Given the description of an element on the screen output the (x, y) to click on. 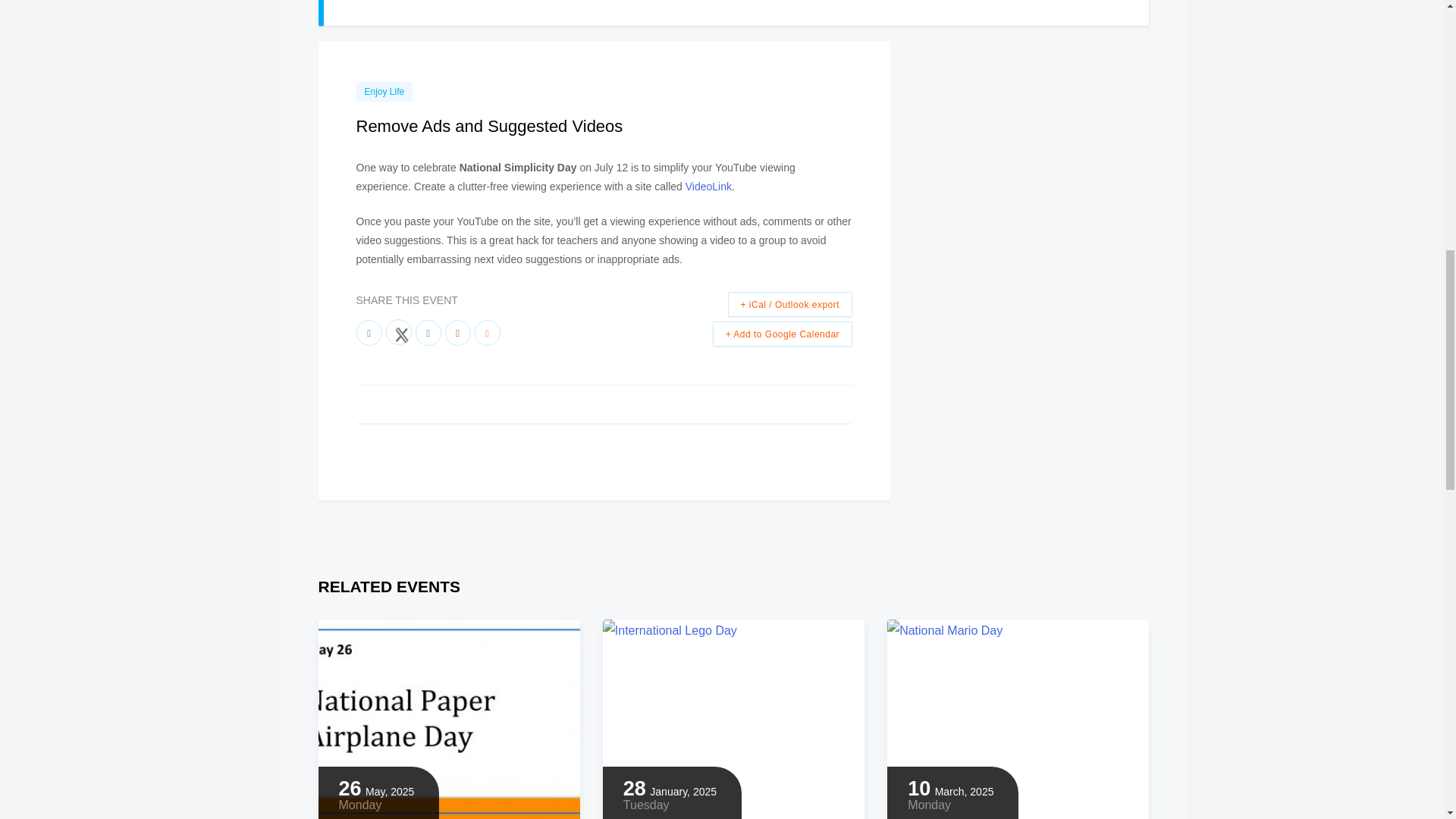
Email (487, 332)
X Social Network (397, 331)
Share on Facebook (368, 332)
Linkedin (427, 332)
Share on Pinterest (457, 332)
